Given the description of an element on the screen output the (x, y) to click on. 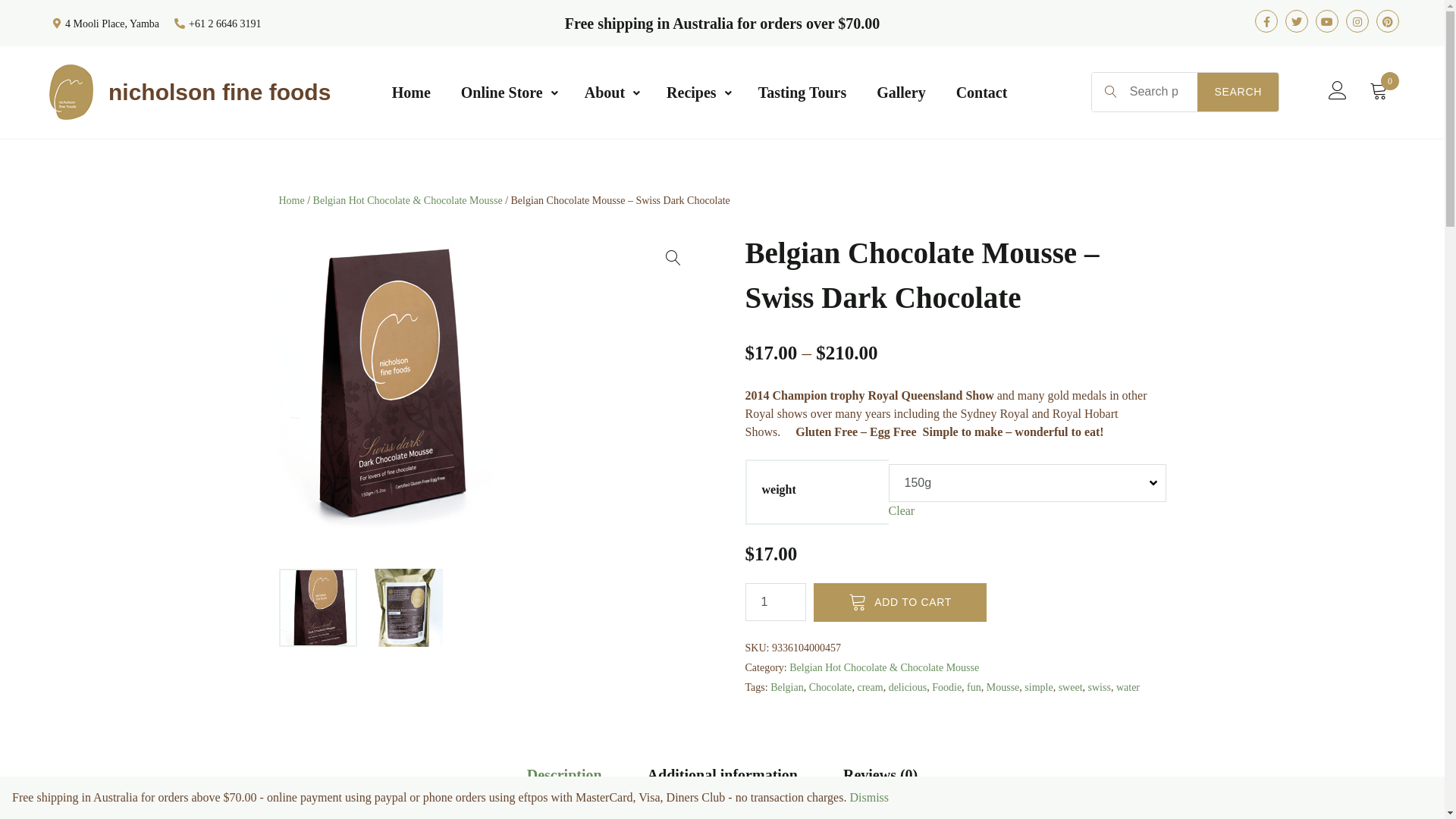
+61 2 6646 3191 Element type: text (217, 22)
Dismiss Element type: text (868, 796)
0 Element type: text (1378, 91)
simple Element type: text (1038, 687)
Mousse-Dark-LRG Element type: hover (386, 396)
sweet Element type: text (1070, 687)
Foodie Element type: text (946, 687)
ADD TO CART Element type: text (899, 602)
Belgian Hot Chocolate & Chocolate Mousse Element type: text (884, 667)
Pinterest Element type: text (1387, 20)
Chocolate Element type: text (830, 687)
About Element type: text (610, 92)
Facebook Element type: text (1266, 20)
swiss Element type: text (1099, 687)
Online Store Element type: text (507, 92)
Description Element type: text (564, 774)
Twitter Element type: text (1296, 20)
SEARCH Element type: text (1237, 91)
Gallery Element type: text (900, 92)
4 Mooli Place, Yamba Element type: text (105, 22)
Qty Element type: hover (774, 602)
Recipes Element type: text (697, 92)
Belgian Element type: text (786, 687)
Tasting Tours Element type: text (802, 92)
fun Element type: text (973, 687)
Home Element type: text (291, 200)
Clear Element type: text (901, 509)
Mousse Element type: text (1002, 687)
water Element type: text (1127, 687)
delicious Element type: text (907, 687)
Instagram Element type: text (1357, 20)
Additional information Element type: text (722, 774)
Belgian Hot Chocolate & Chocolate Mousse Element type: text (407, 200)
My Account Element type: hover (1337, 91)
cream Element type: text (869, 687)
Reviews (0) Element type: text (880, 774)
nicholson fine foods Element type: text (219, 90)
Contact Element type: text (981, 92)
Home Element type: text (410, 92)
Youtube Element type: text (1326, 20)
